Given the description of an element on the screen output the (x, y) to click on. 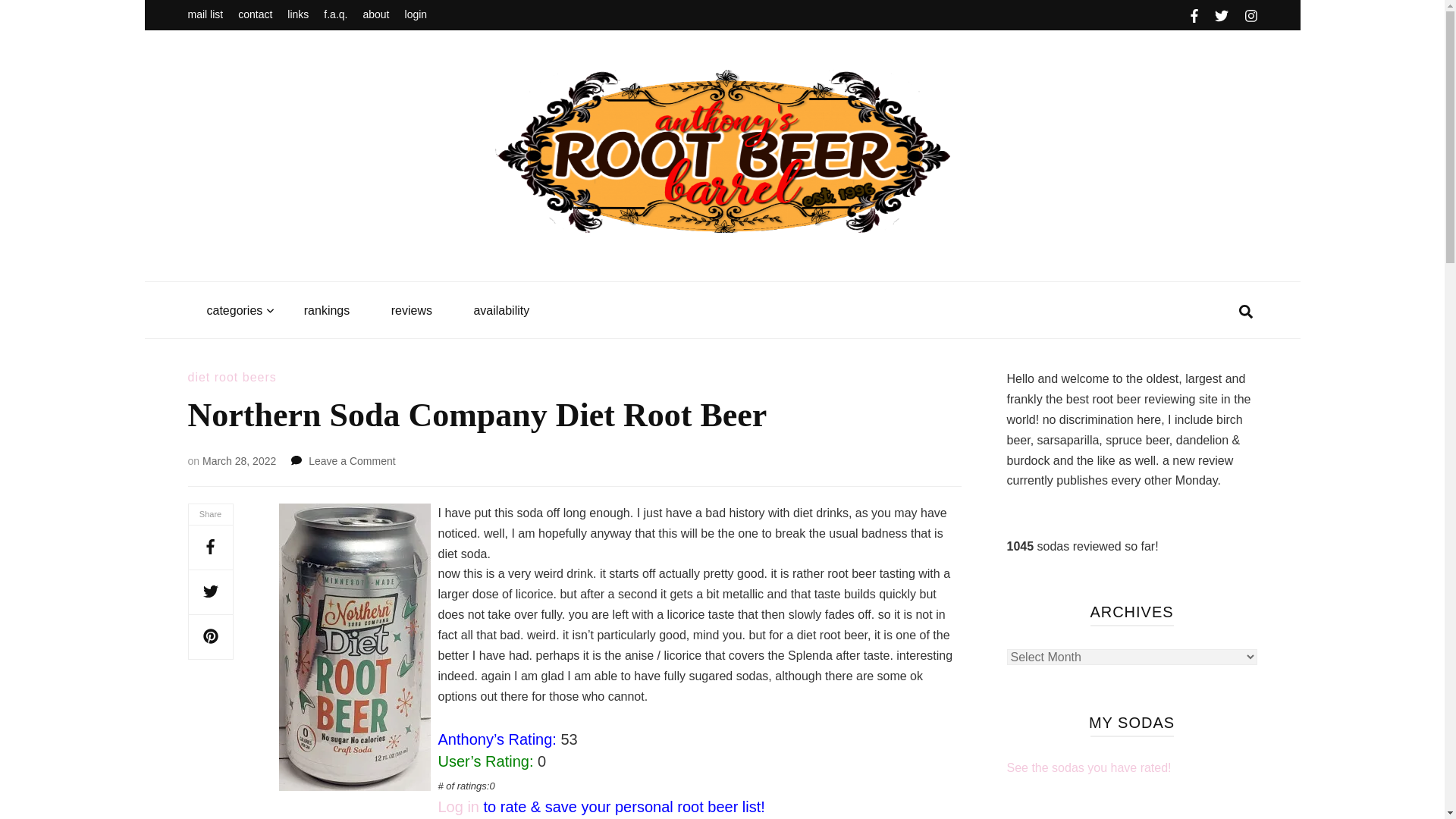
availability (501, 311)
categories (234, 311)
rankings (326, 311)
contact (255, 15)
reviews (411, 311)
mail list (205, 15)
